Given the description of an element on the screen output the (x, y) to click on. 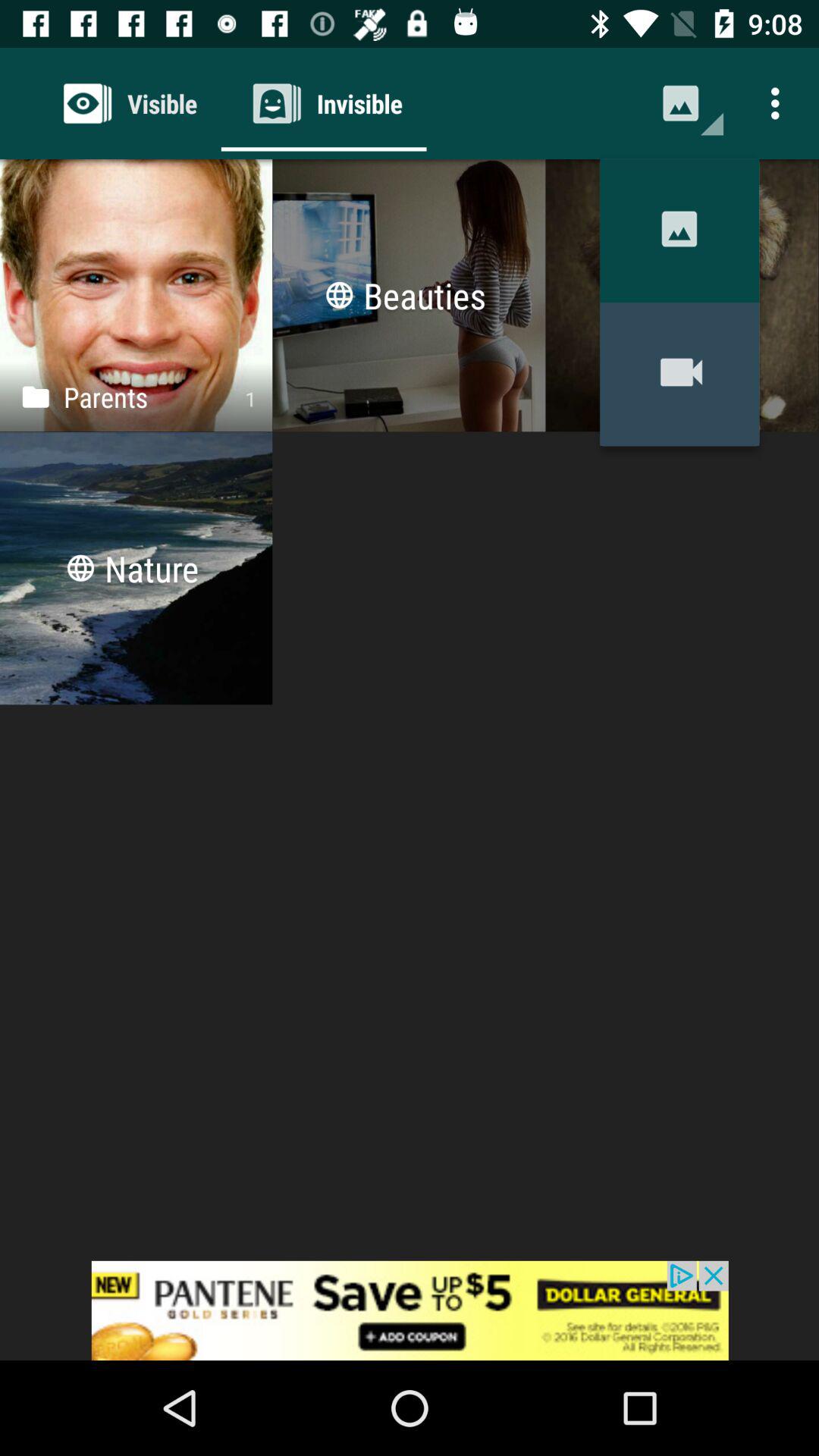
advertisement page (409, 1310)
